Given the description of an element on the screen output the (x, y) to click on. 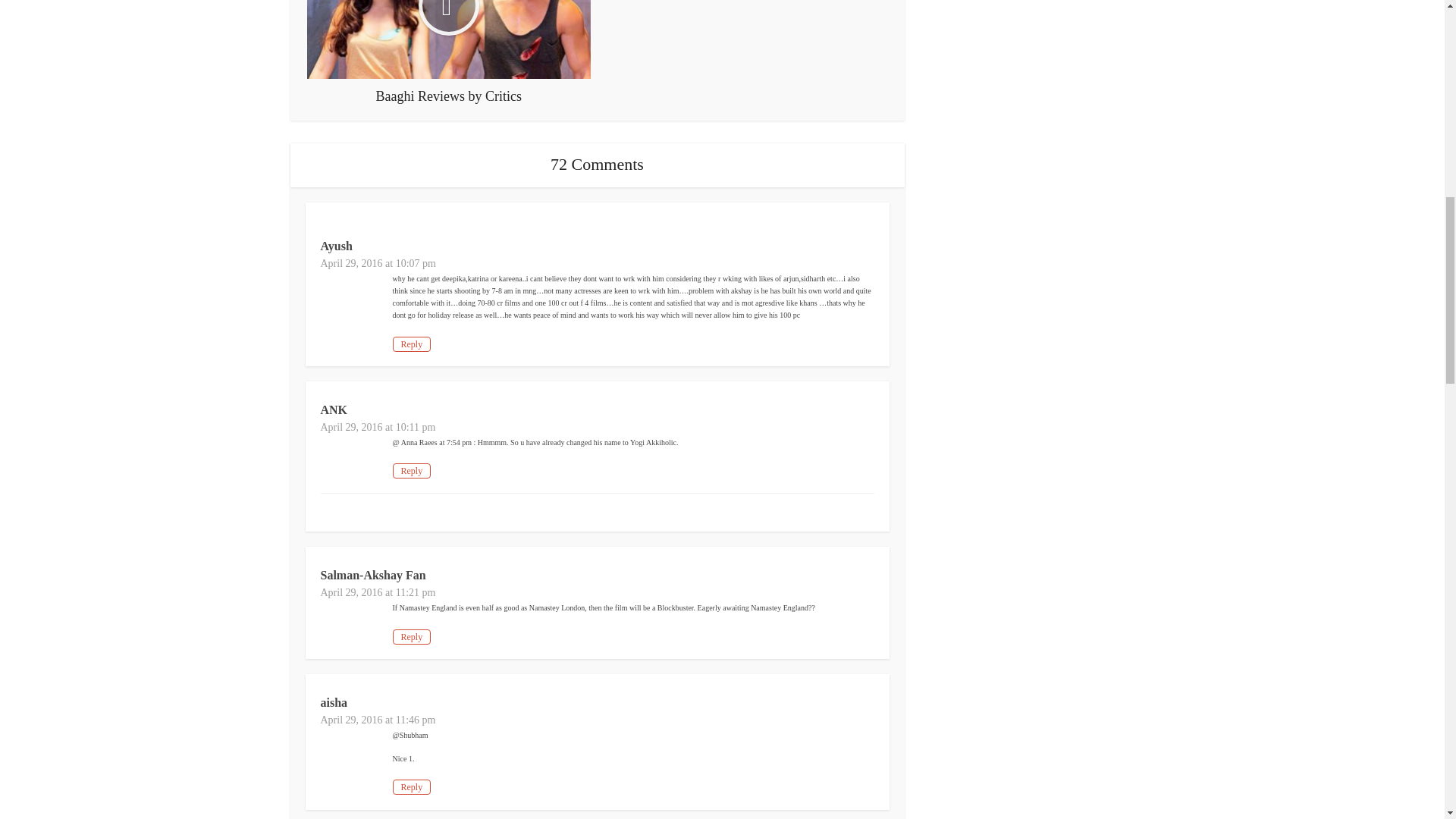
April 29, 2016 at 11:46 pm (377, 719)
April 29, 2016 at 10:11 pm (377, 427)
April 29, 2016 at 10:07 pm (377, 263)
Baaghi Reviews by Critics (449, 52)
April 29, 2016 at 11:21 pm (377, 592)
Reply (411, 786)
Reply (411, 344)
Reply (411, 470)
Reply (411, 636)
